Given the description of an element on the screen output the (x, y) to click on. 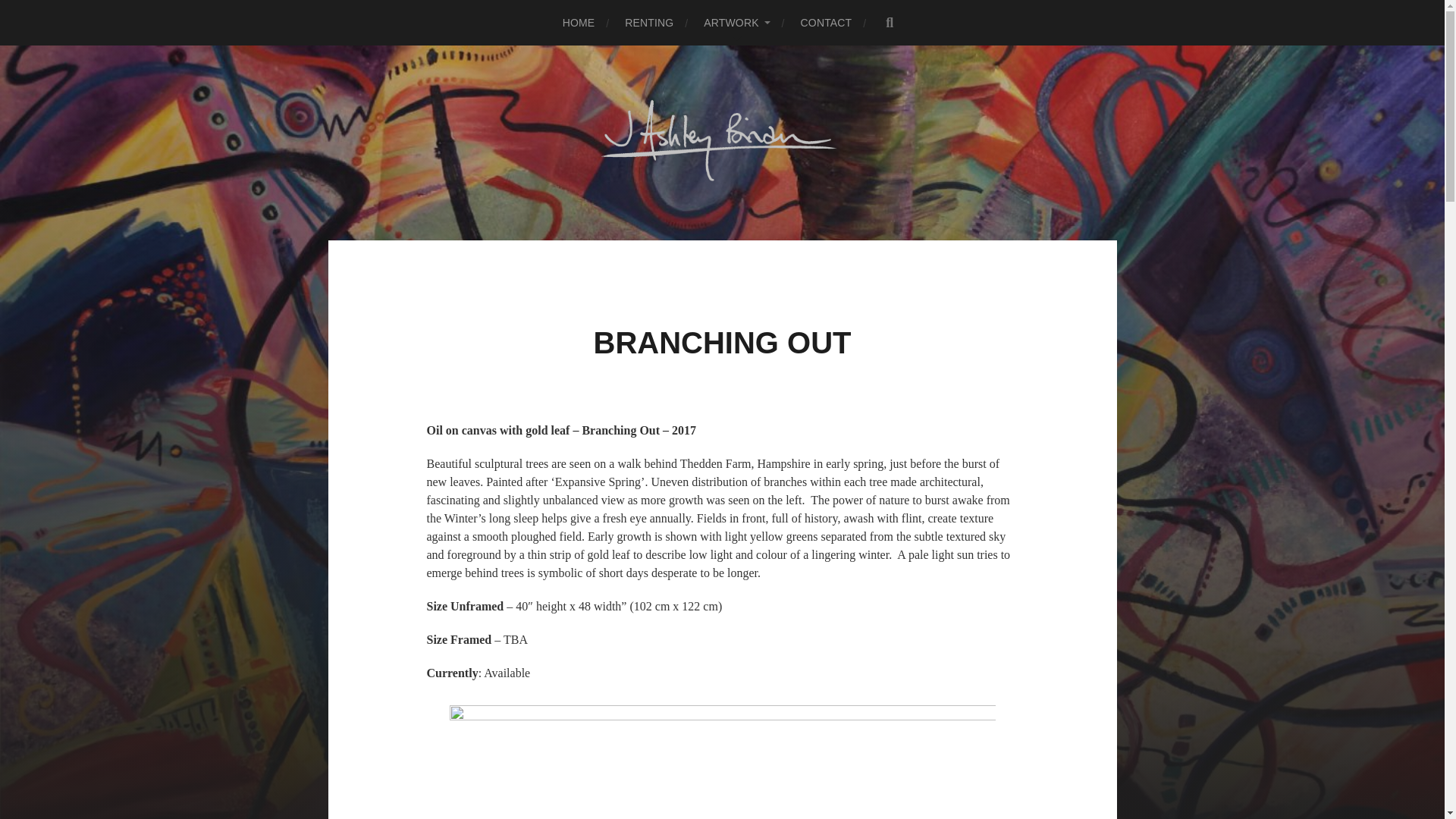
CONTACT (825, 22)
ARTWORK (736, 22)
RENTING (648, 22)
